Given the description of an element on the screen output the (x, y) to click on. 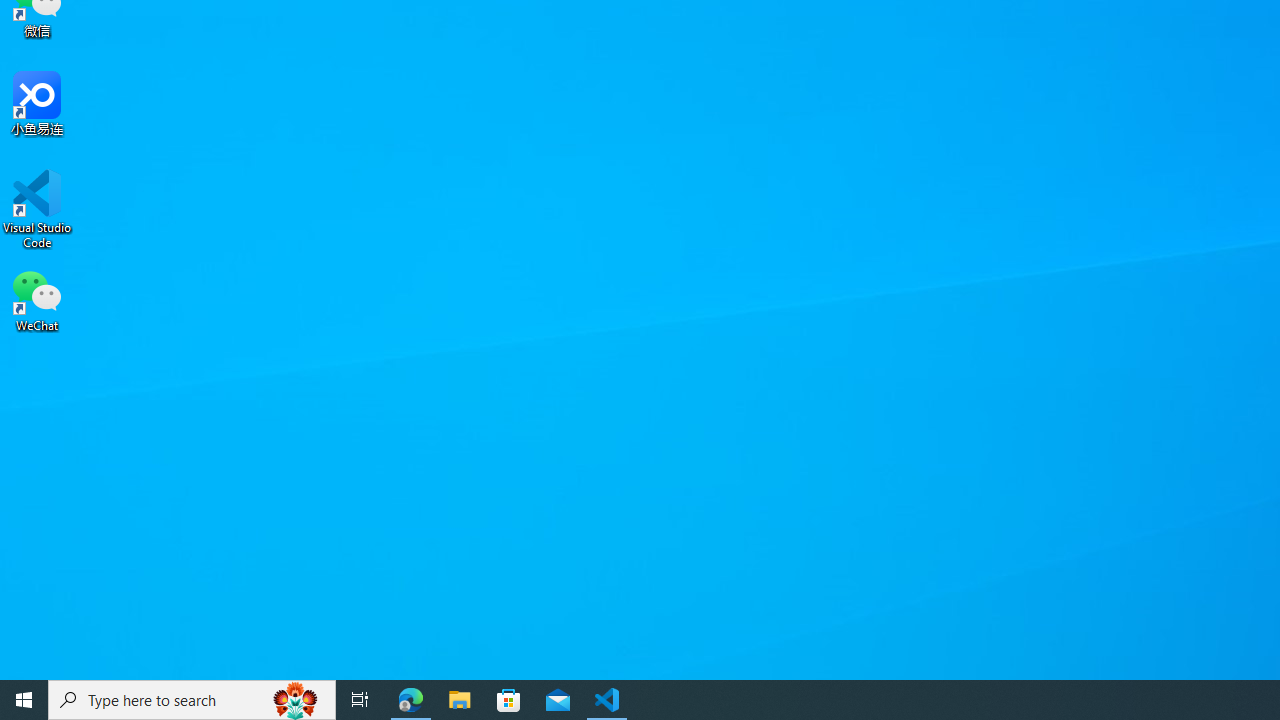
Microsoft Edge - 1 running window (411, 699)
Visual Studio Code (37, 209)
File Explorer (460, 699)
Type here to search (191, 699)
Search highlights icon opens search home window (295, 699)
WeChat (37, 299)
Task View (359, 699)
Start (24, 699)
Visual Studio Code - 1 running window (607, 699)
Microsoft Store (509, 699)
